Given the description of an element on the screen output the (x, y) to click on. 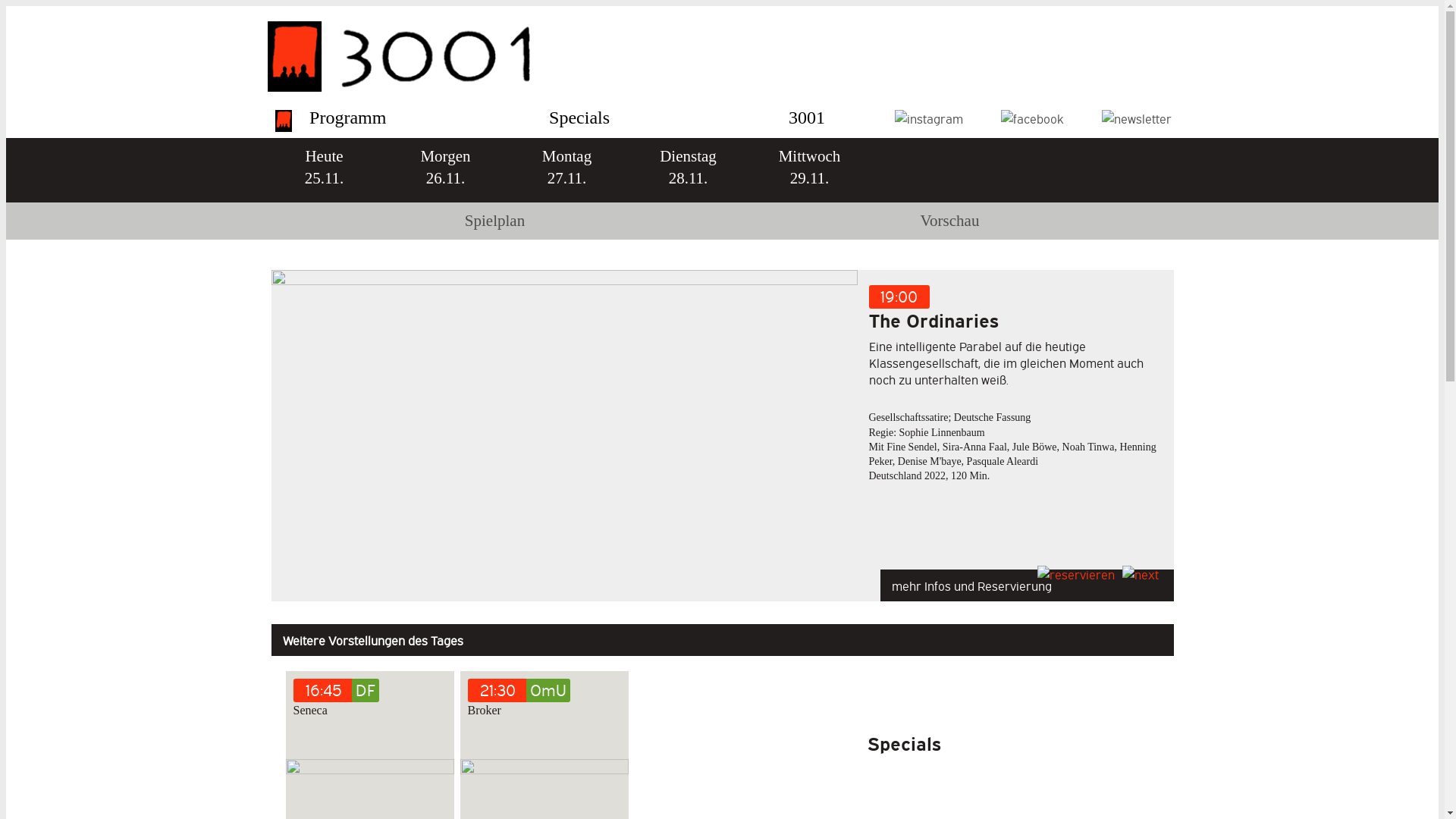
Mittwoch
29.11. Element type: text (808, 170)
Vorschau Element type: text (948, 220)
16:45 DF
Seneca Element type: text (368, 700)
Morgen
26.11. Element type: text (444, 170)
21:30 OmU
Broker Element type: text (543, 700)
3001 Newsletter Element type: hover (1135, 117)
Heute
25.11. Element type: text (323, 170)
Specials Element type: text (579, 117)
Montag
27.11. Element type: text (566, 170)
3001 Element type: text (806, 117)
Spielplan Element type: text (493, 220)
das 3001 Kino bei facebook Element type: hover (1032, 117)
Programm Element type: text (347, 117)
mehr Infos und Reservierung Element type: text (1026, 582)
Dienstag
28.11. Element type: text (687, 170)
das 3001 Kino bei instagram Element type: hover (928, 117)
